Given the description of an element on the screen output the (x, y) to click on. 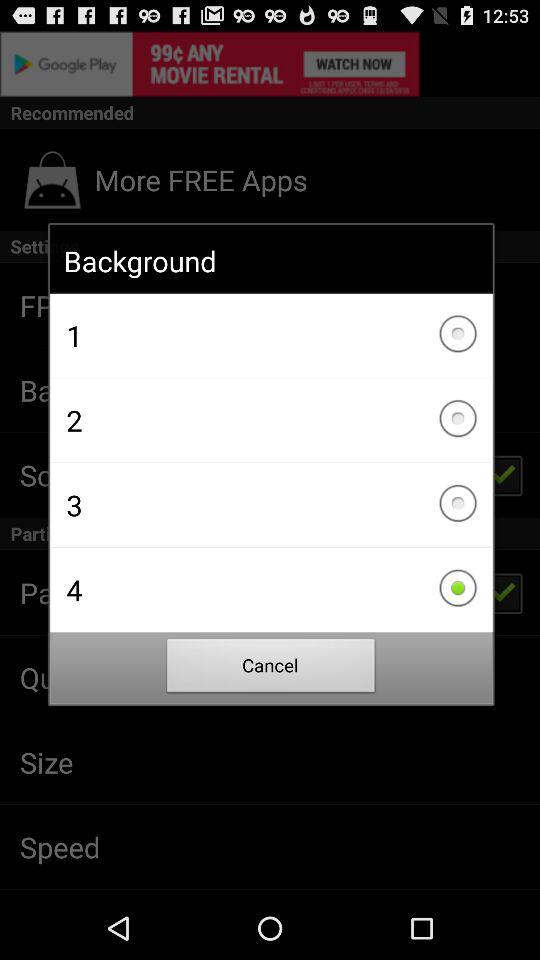
turn on the cancel at the bottom (271, 668)
